Given the description of an element on the screen output the (x, y) to click on. 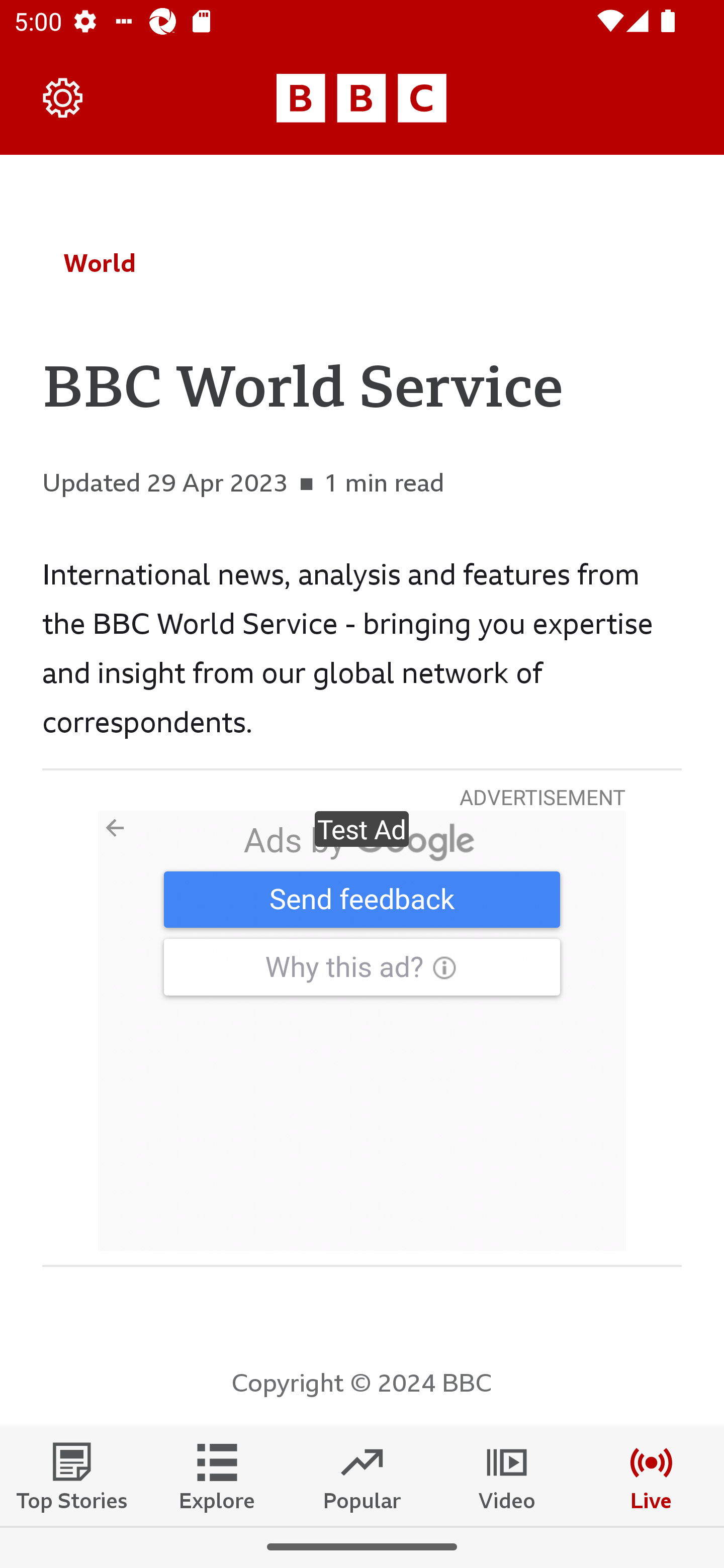
Settings (63, 97)
World (99, 263)
Fidelity javascript:window.open(window (361, 1030)
Top Stories (72, 1475)
Explore (216, 1475)
Popular (361, 1475)
Video (506, 1475)
